Given the description of an element on the screen output the (x, y) to click on. 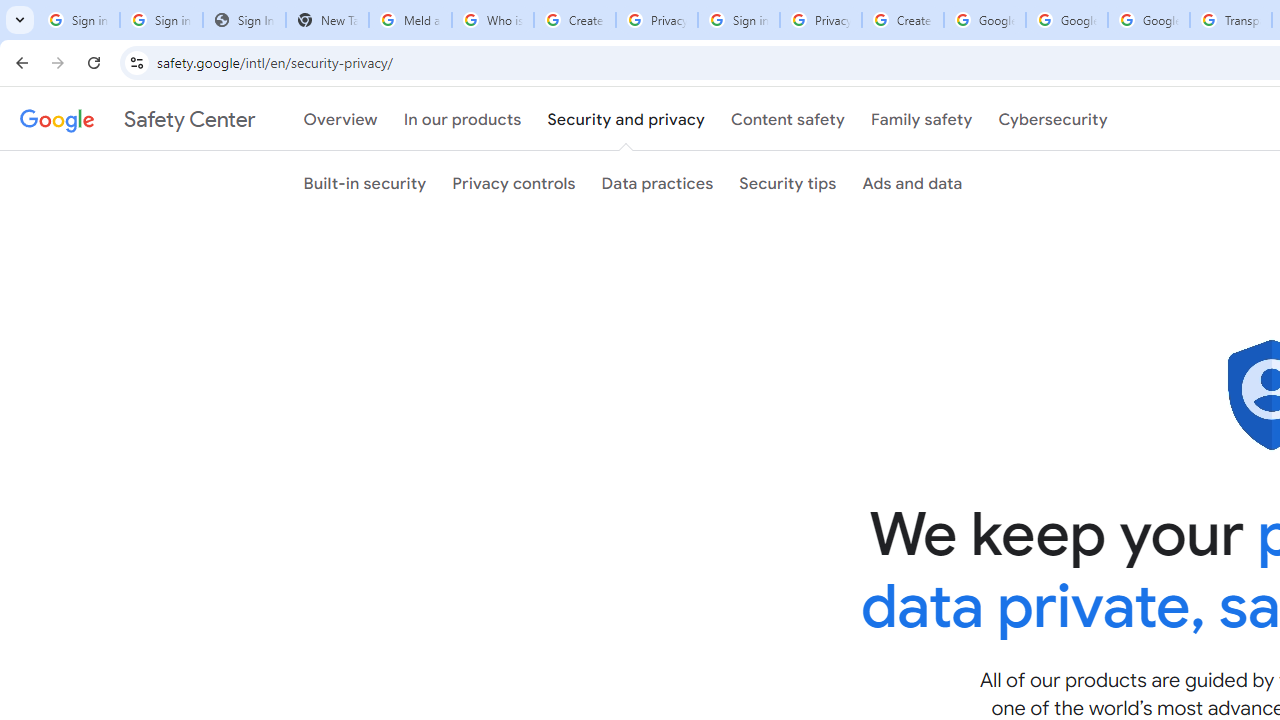
Show Mini Toolbar on selection (1065, 502)
Add-ins (774, 683)
Enable modern comments (1046, 664)
Enable Live Preview (1018, 534)
Customize Ribbon (774, 599)
Accessibility (774, 515)
Advanced (774, 557)
Display (774, 331)
Tools (127, 19)
Optimize for best appearance (1088, 438)
Typography (774, 442)
Proofing (774, 368)
